Given the description of an element on the screen output the (x, y) to click on. 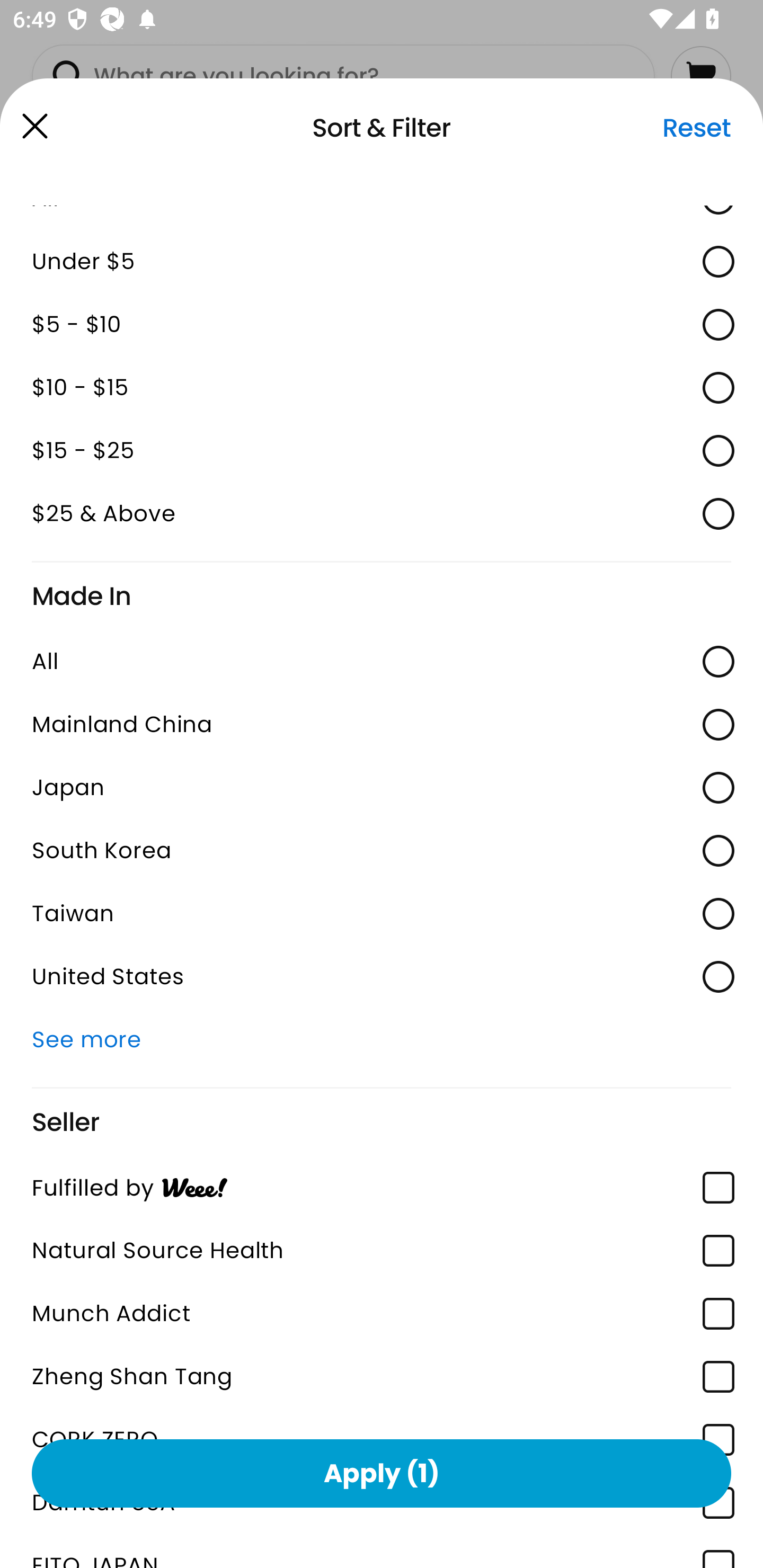
Reset (696, 127)
See more (381, 1039)
Apply (1) (381, 1472)
